Given the description of an element on the screen output the (x, y) to click on. 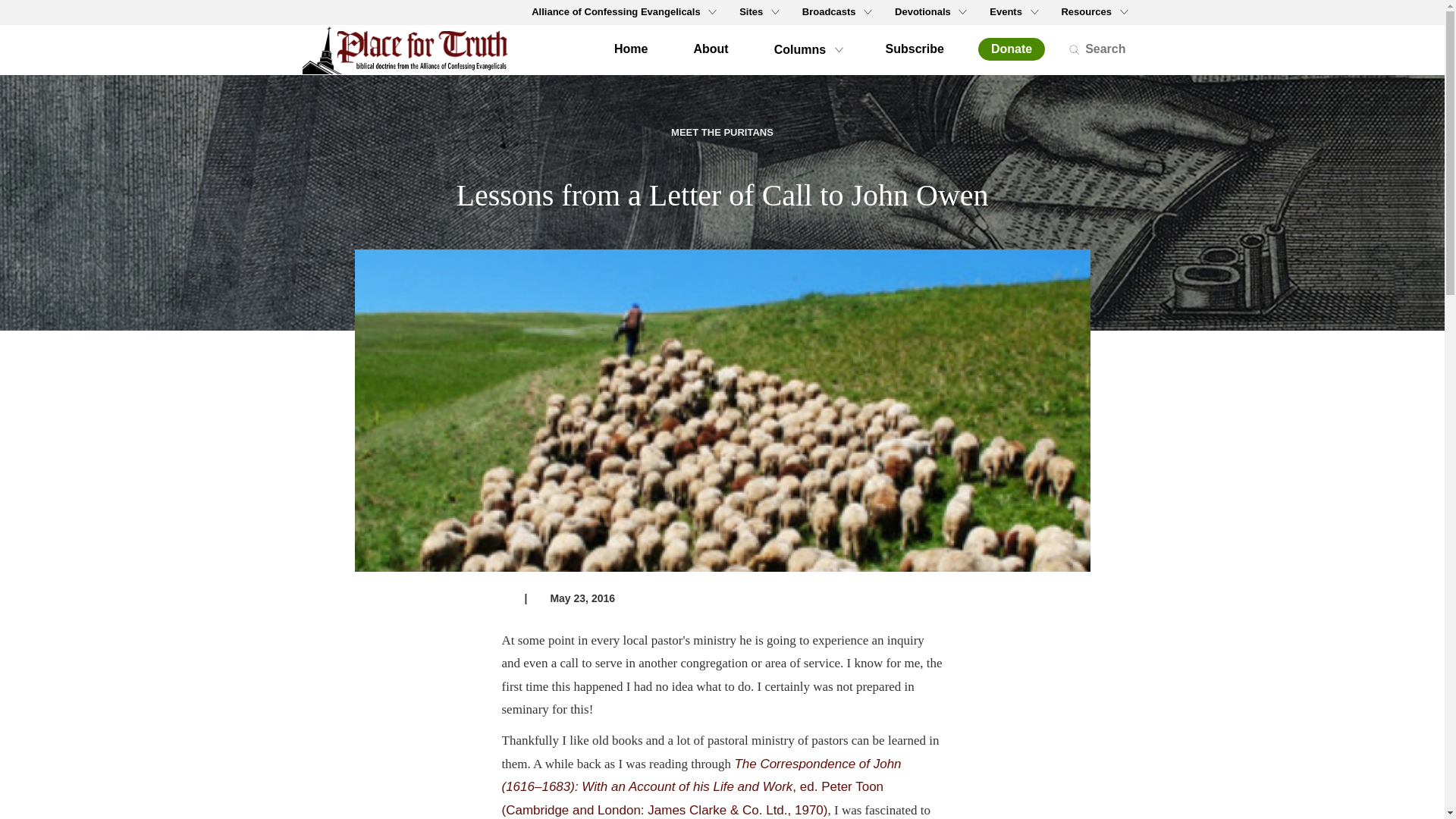
Home (411, 49)
Events (1012, 12)
Subscribe (915, 47)
Broadcasts (835, 12)
Columns (806, 48)
Sites (757, 12)
Donate (1011, 48)
Home (630, 47)
Alliance of Confessing Evangelicals (622, 12)
Devotionals (929, 12)
